Given the description of an element on the screen output the (x, y) to click on. 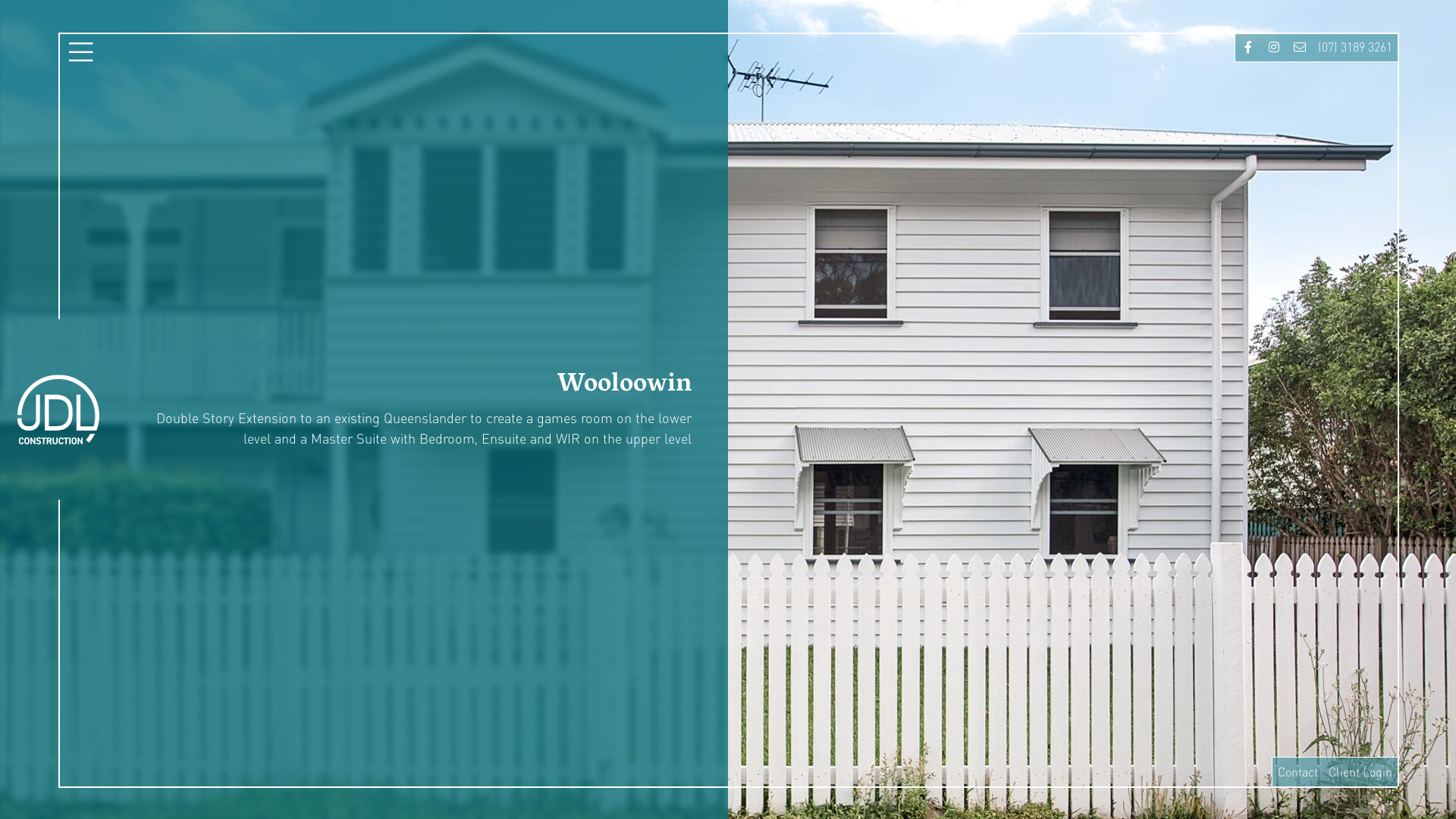
Contact Element type: text (1297, 771)
(07) 3189 3261 Element type: text (1354, 46)
